Given the description of an element on the screen output the (x, y) to click on. 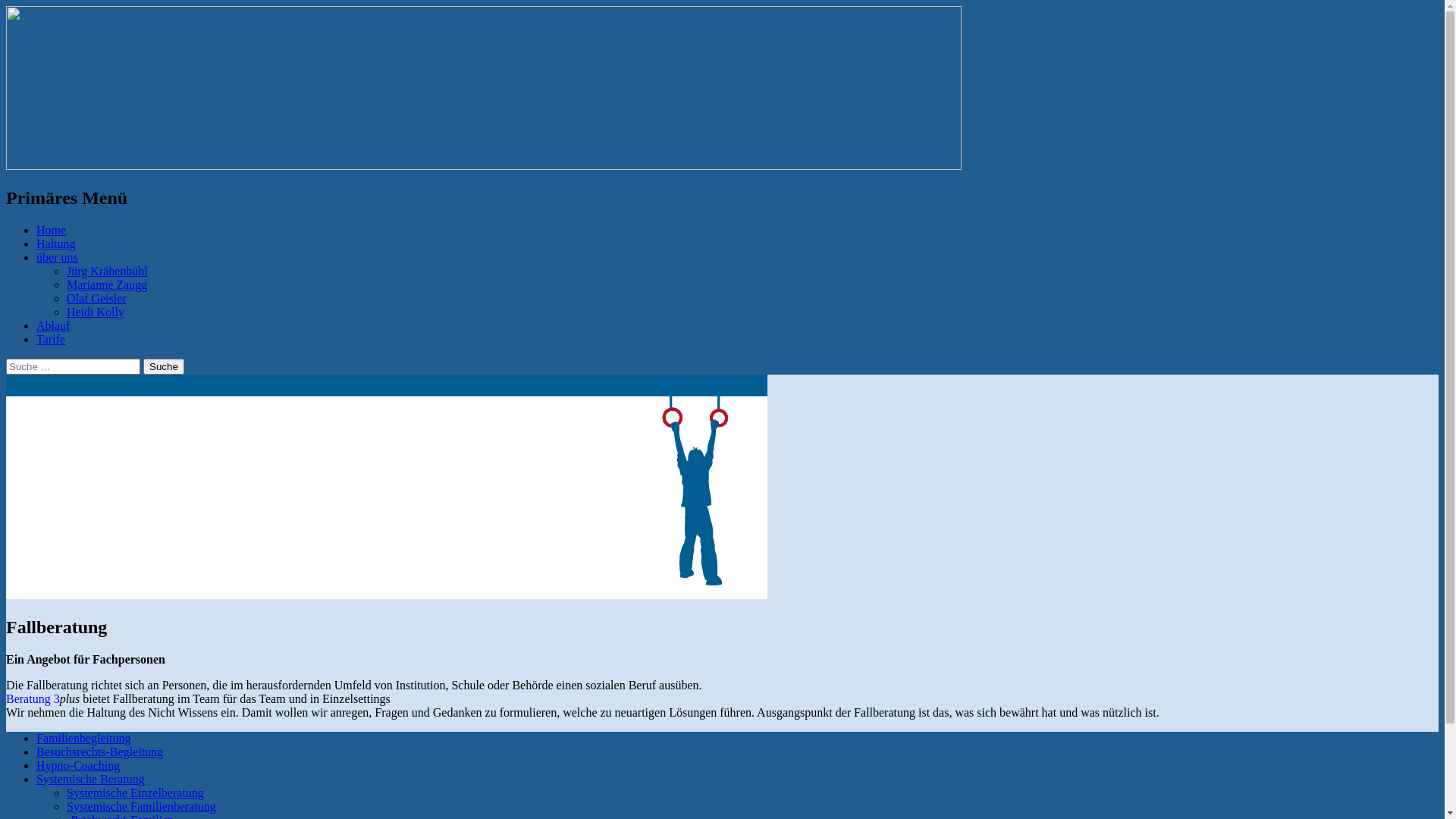
Systemische Familienberatung Element type: text (141, 806)
Suche Element type: text (163, 366)
Systemische Einzelberatung Element type: text (134, 792)
Tarife Element type: text (50, 338)
Systemische Beratung Element type: text (90, 778)
Haltung Element type: text (55, 243)
Hypno-Coaching Element type: text (77, 765)
Beratung3plus Element type: text (82, 217)
Suchen Element type: text (5, 187)
Olaf Geisler Element type: text (96, 297)
Besuchsrechts-Begleitung Element type: text (99, 751)
Marianne Zaugg Element type: text (106, 284)
Familienbegleitung Element type: text (83, 737)
Home Element type: text (50, 229)
Heidi Kolly Element type: text (95, 311)
Zum Inhalt springen Element type: text (5, 222)
Ablauf Element type: text (52, 325)
